Given the description of an element on the screen output the (x, y) to click on. 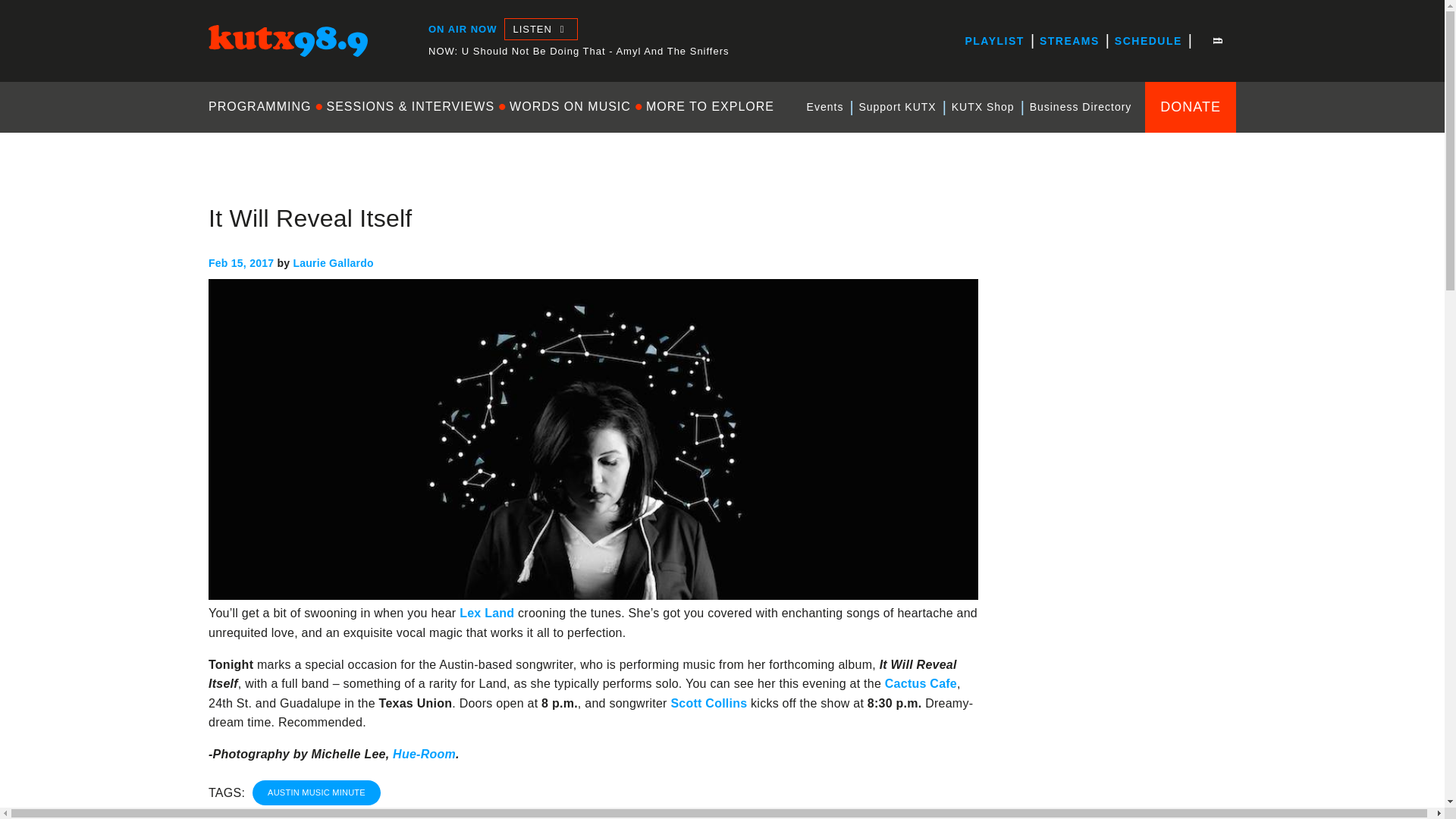
KUTX Shop (982, 106)
SCHEDULE (1147, 40)
PROGRAMMING (263, 106)
Business Directory (1081, 106)
WORDS ON MUSIC (570, 106)
STREAMS (1069, 40)
Support KUTX (896, 106)
Events (825, 106)
MORE TO EXPLORE (710, 106)
LISTEN (539, 29)
PLAYLIST (993, 40)
KUTX (224, 69)
DONATE (1190, 106)
